Given the description of an element on the screen output the (x, y) to click on. 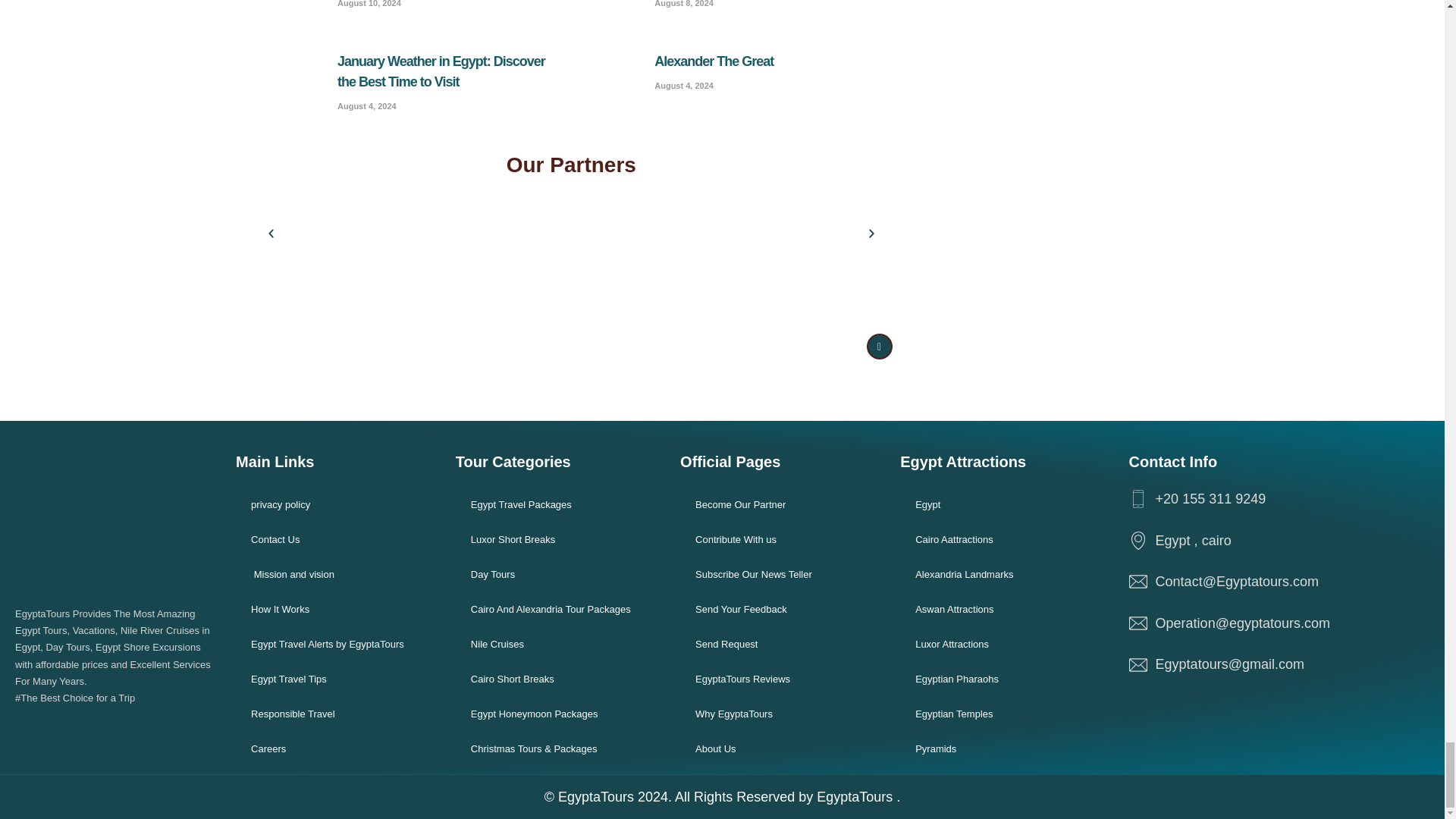
What To Pack For Egypt: Best List 10 (948, 230)
What To Pack For Egypt: Best List 6 (611, 74)
What To Pack For Egypt: Best List 8 (571, 230)
What To Pack For Egypt: Best List 9 (759, 230)
What To Pack For Egypt: Best List 5 (295, 74)
What To Pack For Egypt: Best List 7 (382, 230)
